Given the description of an element on the screen output the (x, y) to click on. 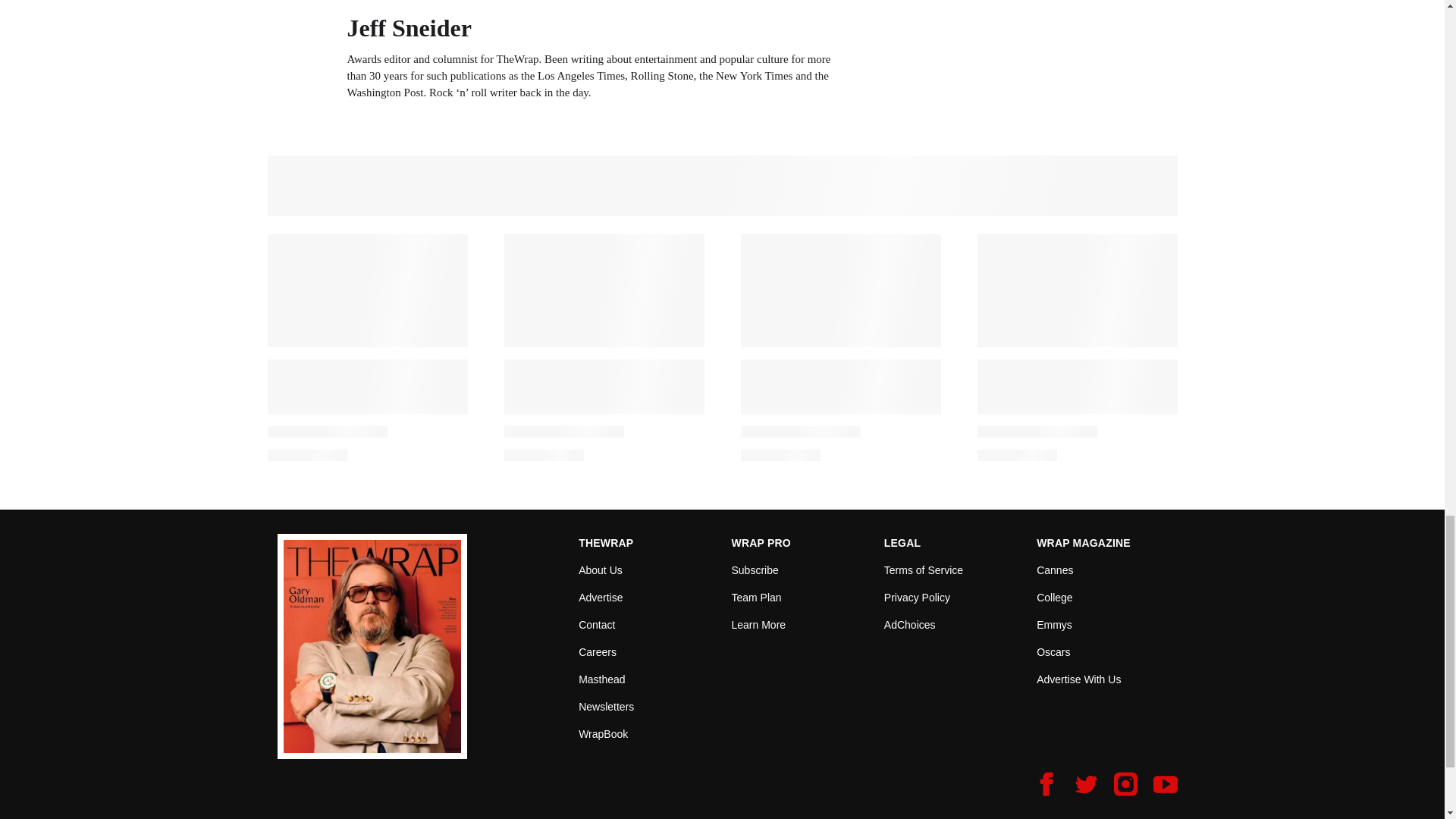
Learn more about becoming a member (758, 624)
